Given the description of an element on the screen output the (x, y) to click on. 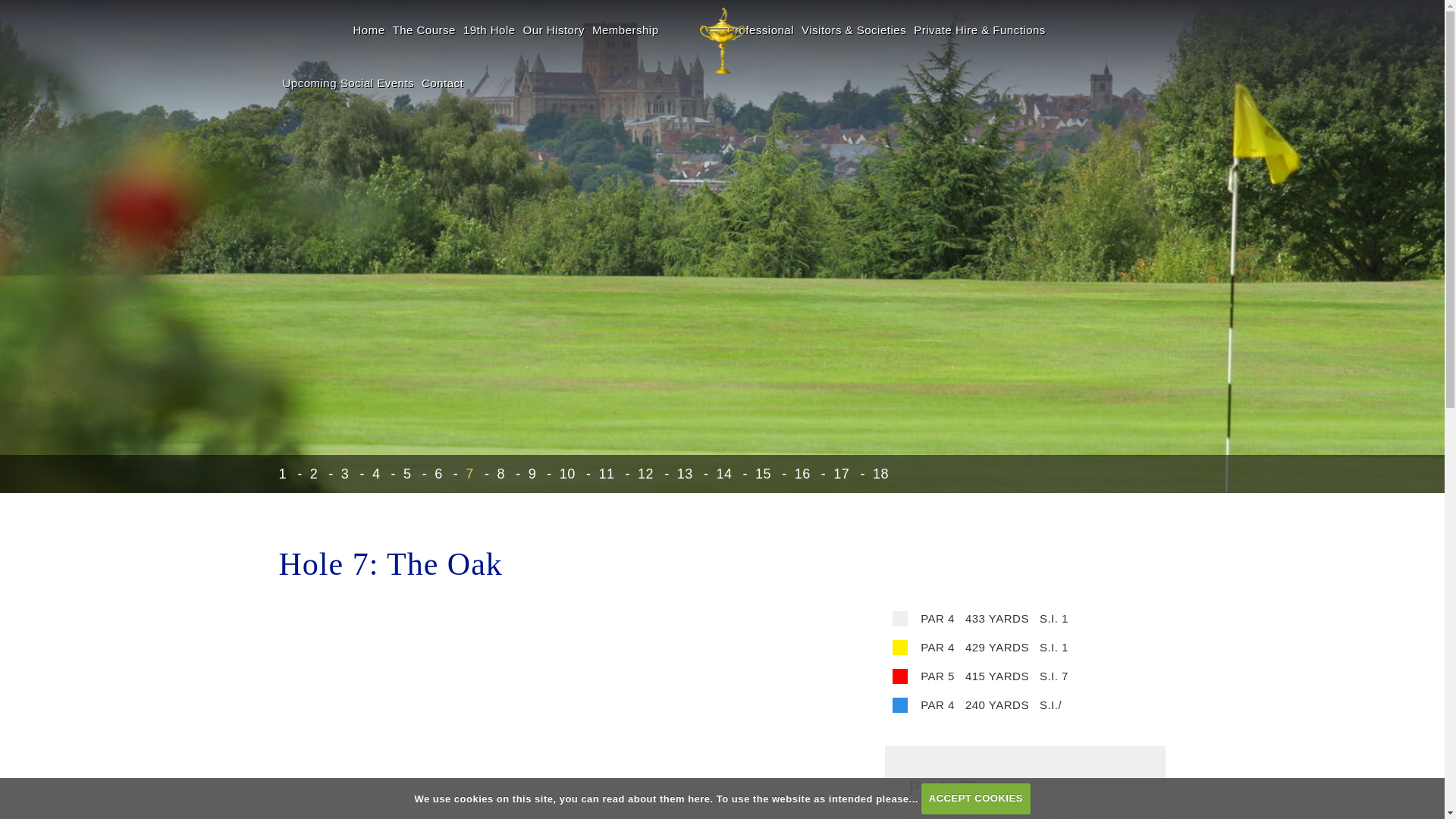
read about our cookies (656, 797)
2 (303, 473)
Membership (625, 26)
Our History (553, 26)
19th Hole (489, 26)
Contact (442, 79)
Upcoming Social Events (349, 79)
The Course (424, 26)
4 (366, 473)
3 (334, 473)
